Given the description of an element on the screen output the (x, y) to click on. 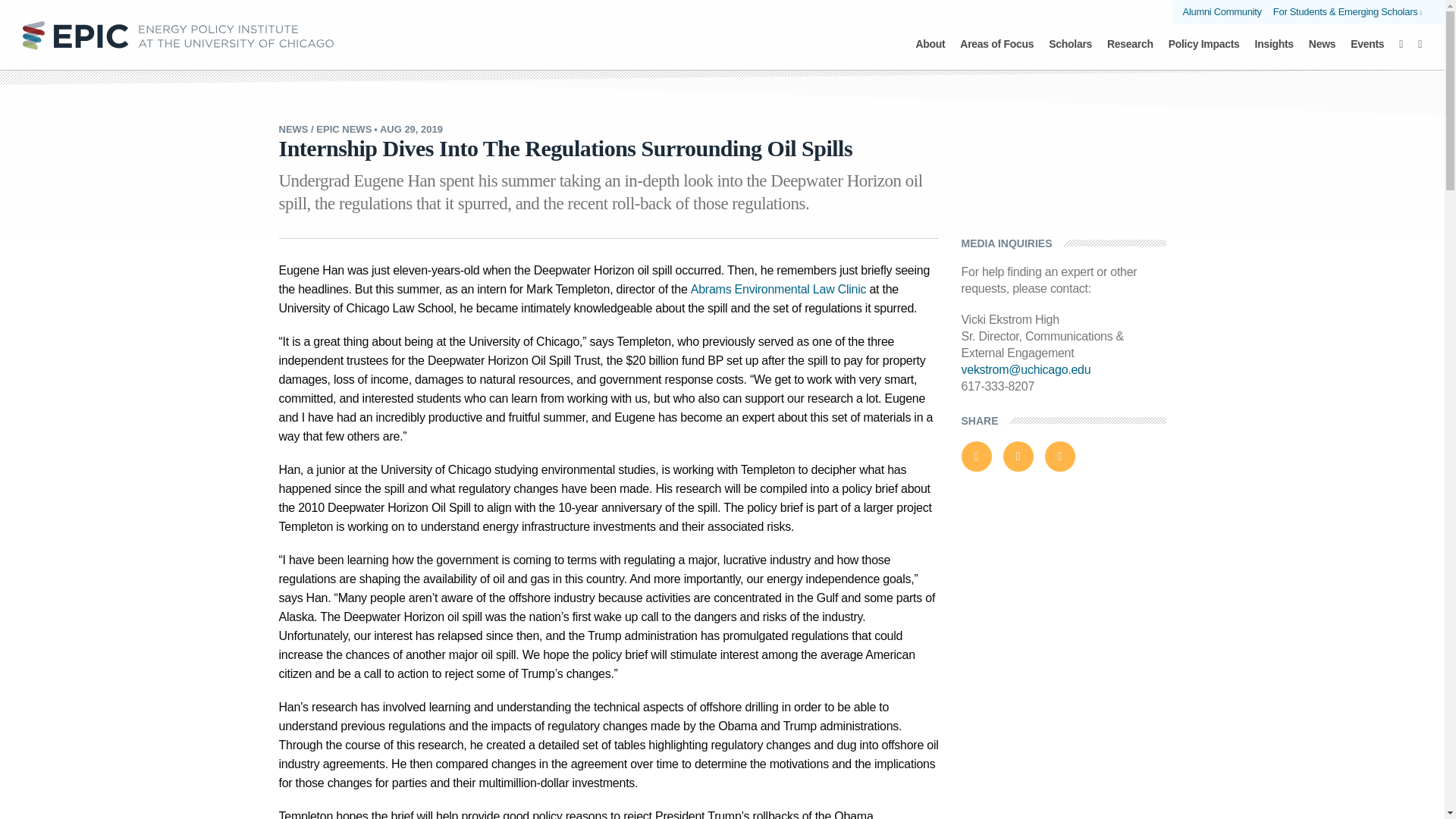
EPIC (178, 33)
Areas of Focus (996, 52)
Abrams Environmental Law Clinic (721, 26)
Contact (938, 38)
Visiting Fellows (722, 38)
Our Team (518, 38)
Advisory Group (614, 38)
Scholars (1070, 52)
Research (1129, 52)
